Given the description of an element on the screen output the (x, y) to click on. 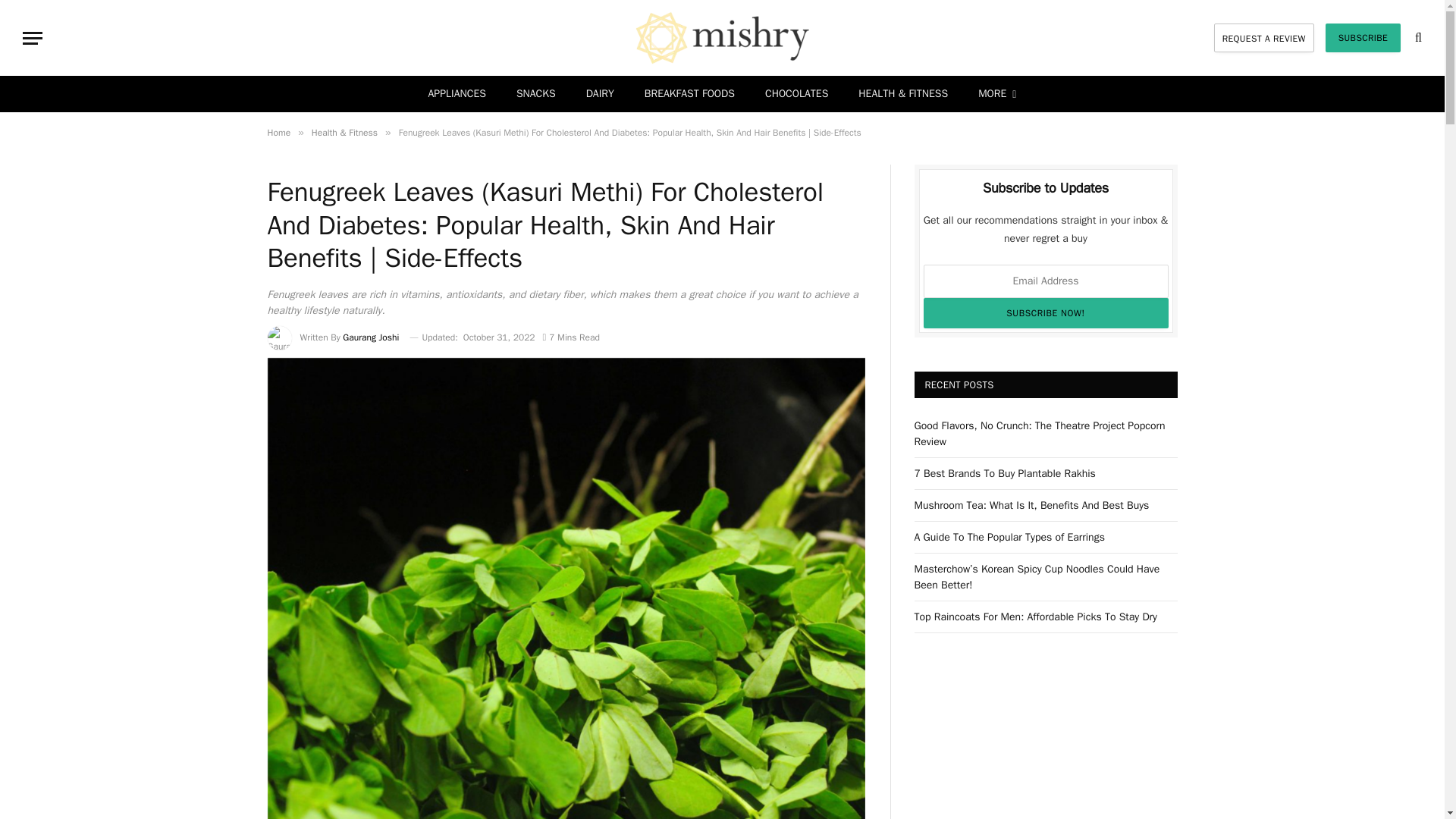
Mishry  (721, 38)
Posts by Gaurang Joshi (370, 337)
REQUEST A REVIEW (1264, 37)
Subscribe Now! (1046, 313)
SUBSCRIBE (1362, 37)
